Given the description of an element on the screen output the (x, y) to click on. 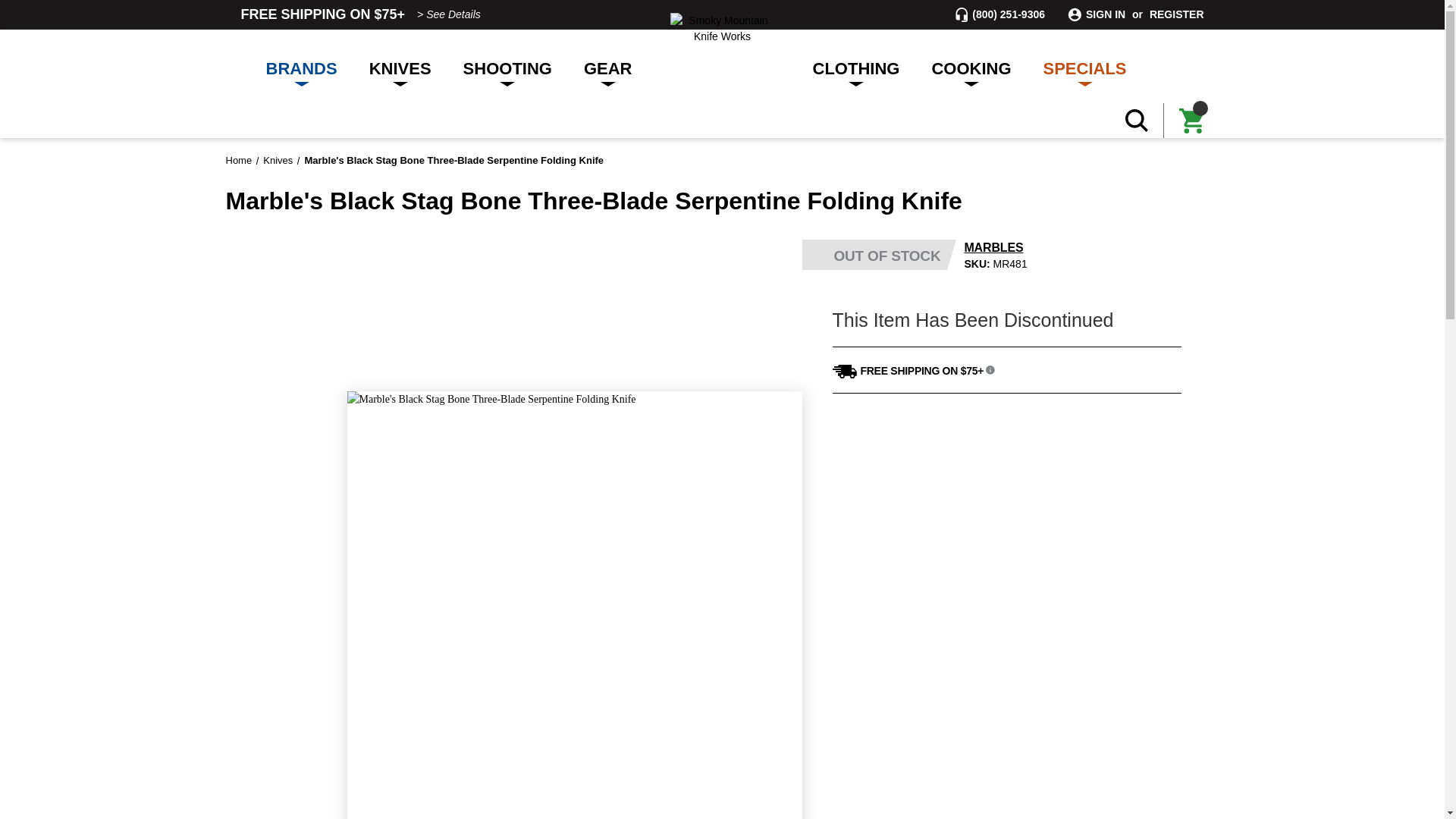
KNIVES (400, 66)
BRANDS (301, 66)
Smoky Mountain Knife Works (721, 29)
REGISTER (1177, 14)
SHOOTING (507, 66)
SIGN IN (1105, 14)
